Given the description of an element on the screen output the (x, y) to click on. 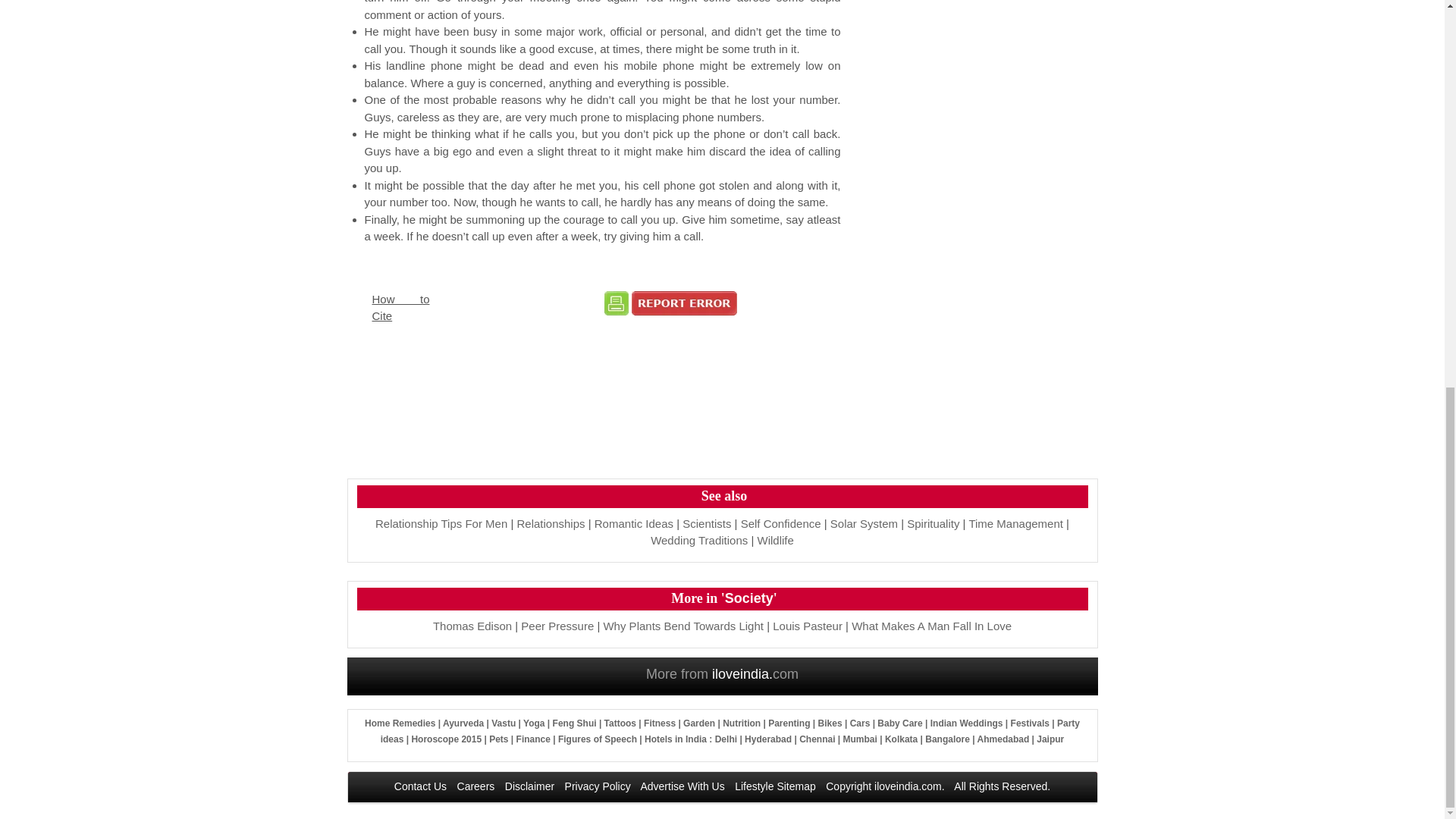
Relationship Tips For Men (440, 522)
Scientists (706, 522)
Self Confidence (781, 522)
Time Management (1015, 522)
Romantic Ideas (633, 522)
Spirituality (933, 522)
Relationships (550, 522)
Solar System (863, 522)
